Given the description of an element on the screen output the (x, y) to click on. 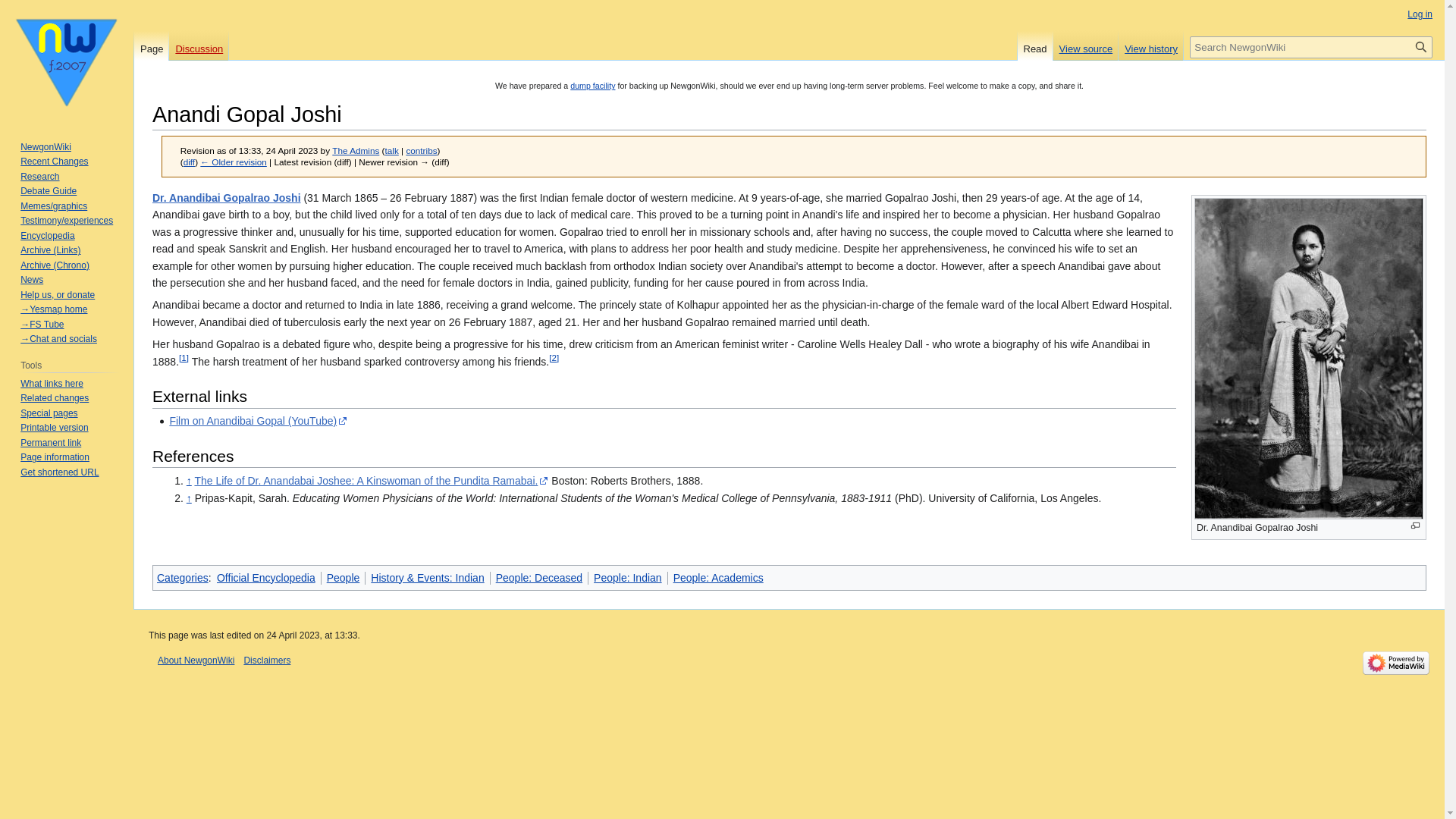
View history (1150, 45)
Category:People: Academics (717, 577)
Dr. Anandibai Gopalrao Joshi (226, 197)
Category:Official Encyclopedia (265, 577)
NewgonWiki (45, 146)
People (342, 577)
User:The Admins (354, 150)
Search (1420, 46)
contribs (421, 150)
Research (39, 176)
